Given the description of an element on the screen output the (x, y) to click on. 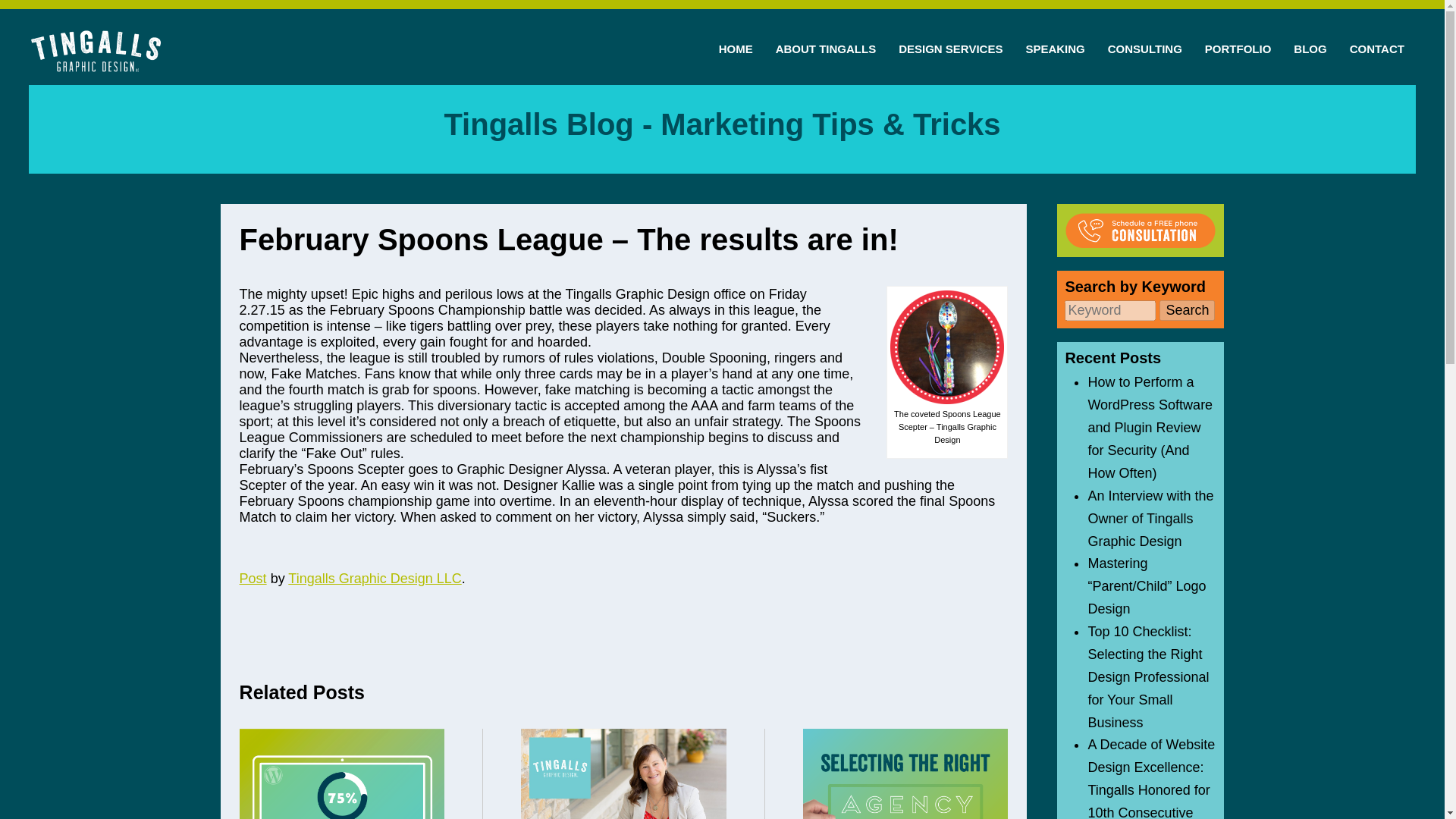
BLOG (1310, 46)
Keyword Search (1110, 310)
Search (1186, 310)
CONTACT (1376, 46)
Tingalls Graphic Design LLC (374, 578)
HOME (735, 46)
An Interview with the Owner of Tingalls Graphic Design (1149, 518)
Post (253, 578)
Search (1186, 310)
Search (1186, 310)
SPEAKING (1054, 46)
CONSULTING (1144, 46)
PORTFOLIO (1237, 46)
ABOUT TINGALLS (826, 46)
DESIGN SERVICES (949, 46)
